Given the description of an element on the screen output the (x, y) to click on. 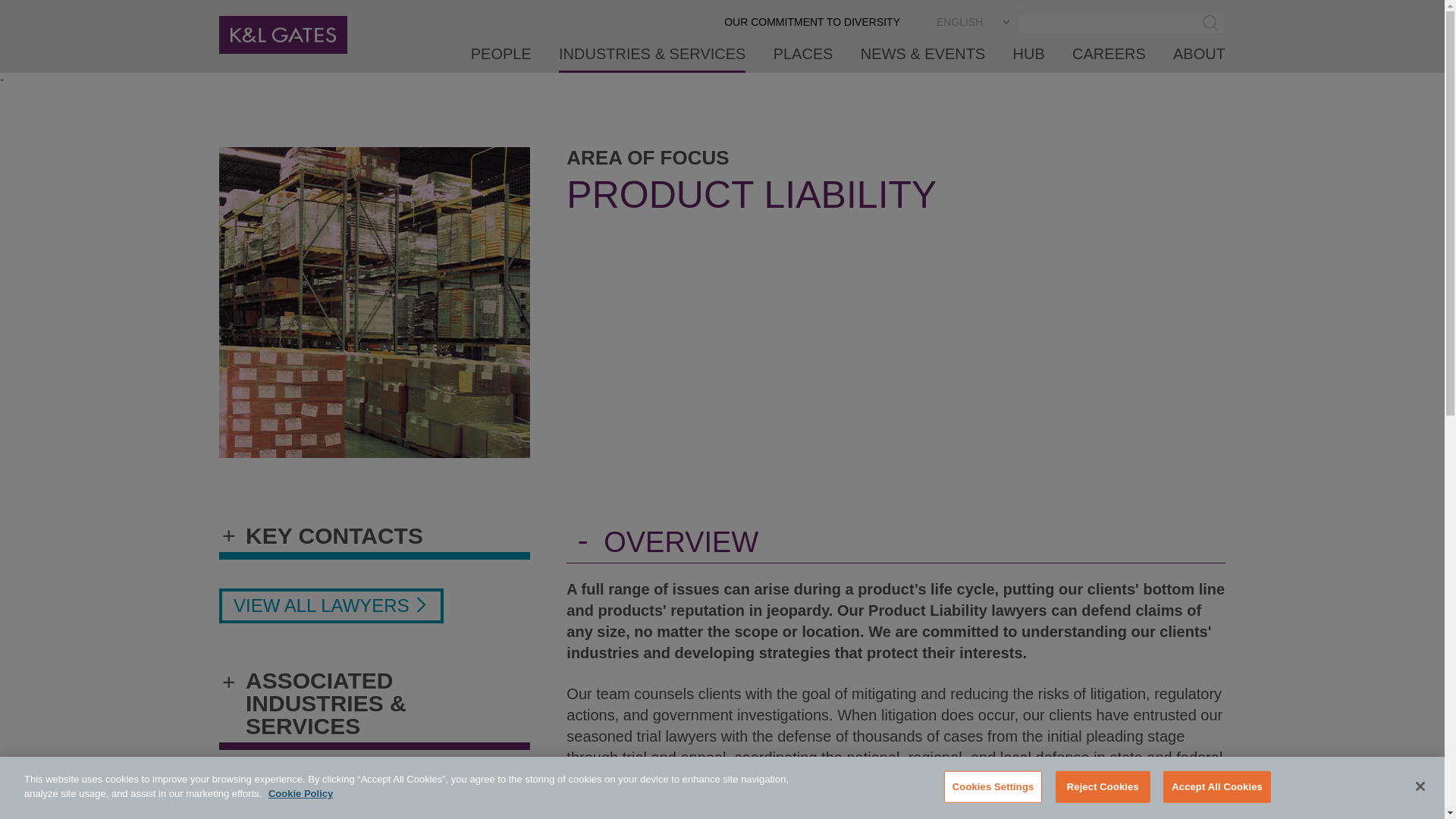
HUB (1029, 58)
OUR COMMITMENT TO DIVERSITY (811, 27)
AREA OF FOCUS (647, 157)
CAREERS (1108, 58)
ABOUT (1199, 58)
PLACES (802, 58)
VIEW ALL LAWYERS (331, 605)
PEOPLE (500, 58)
